Given the description of an element on the screen output the (x, y) to click on. 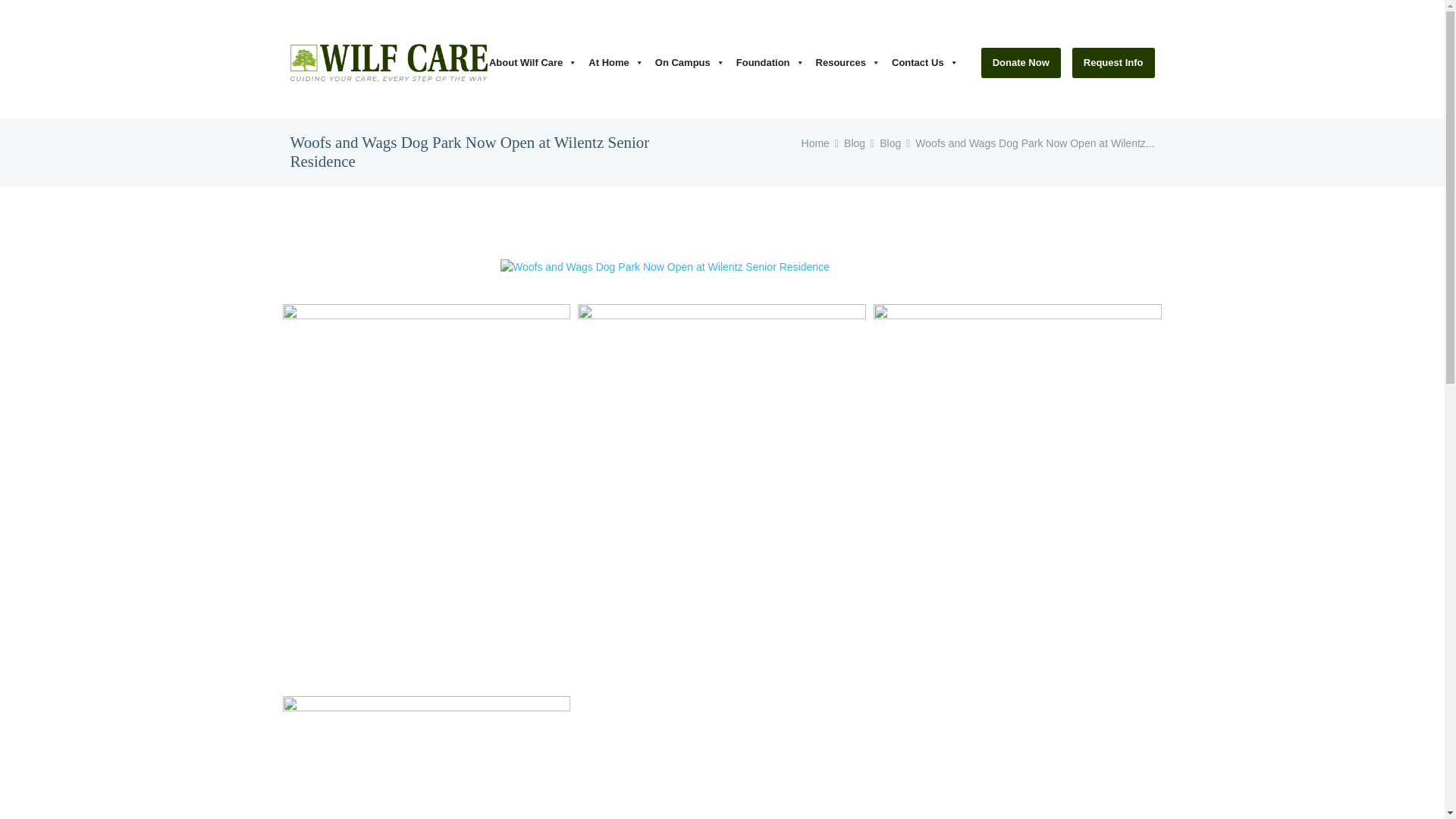
Resources (853, 62)
About Wilf Care (538, 62)
On Campus (695, 62)
Foundation (775, 62)
Woofs and Wags Dog Park Now Open at Wilentz Senior Residence (721, 267)
At Home (620, 62)
